Given the description of an element on the screen output the (x, y) to click on. 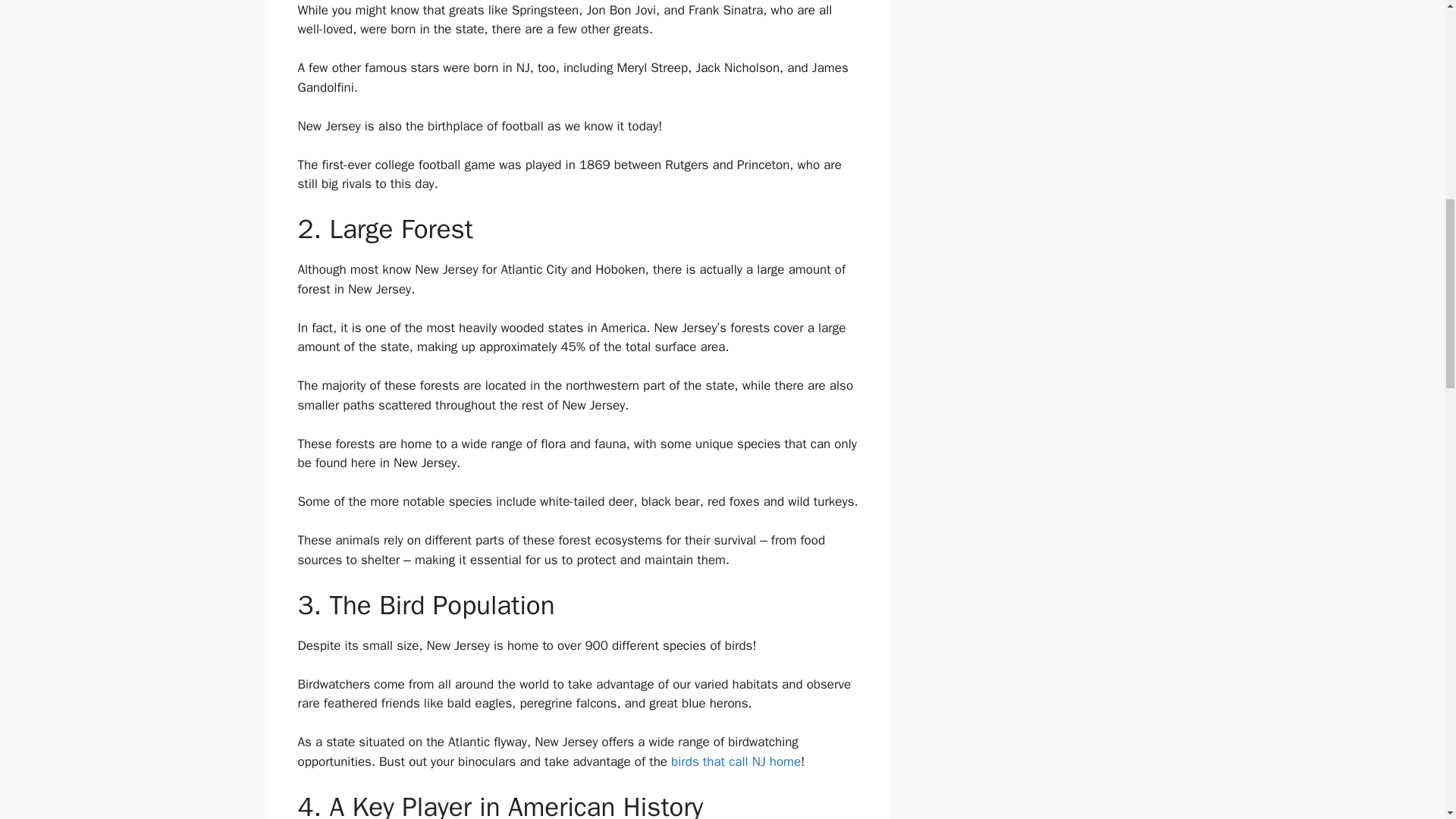
birds that call NJ home (735, 761)
